Given the description of an element on the screen output the (x, y) to click on. 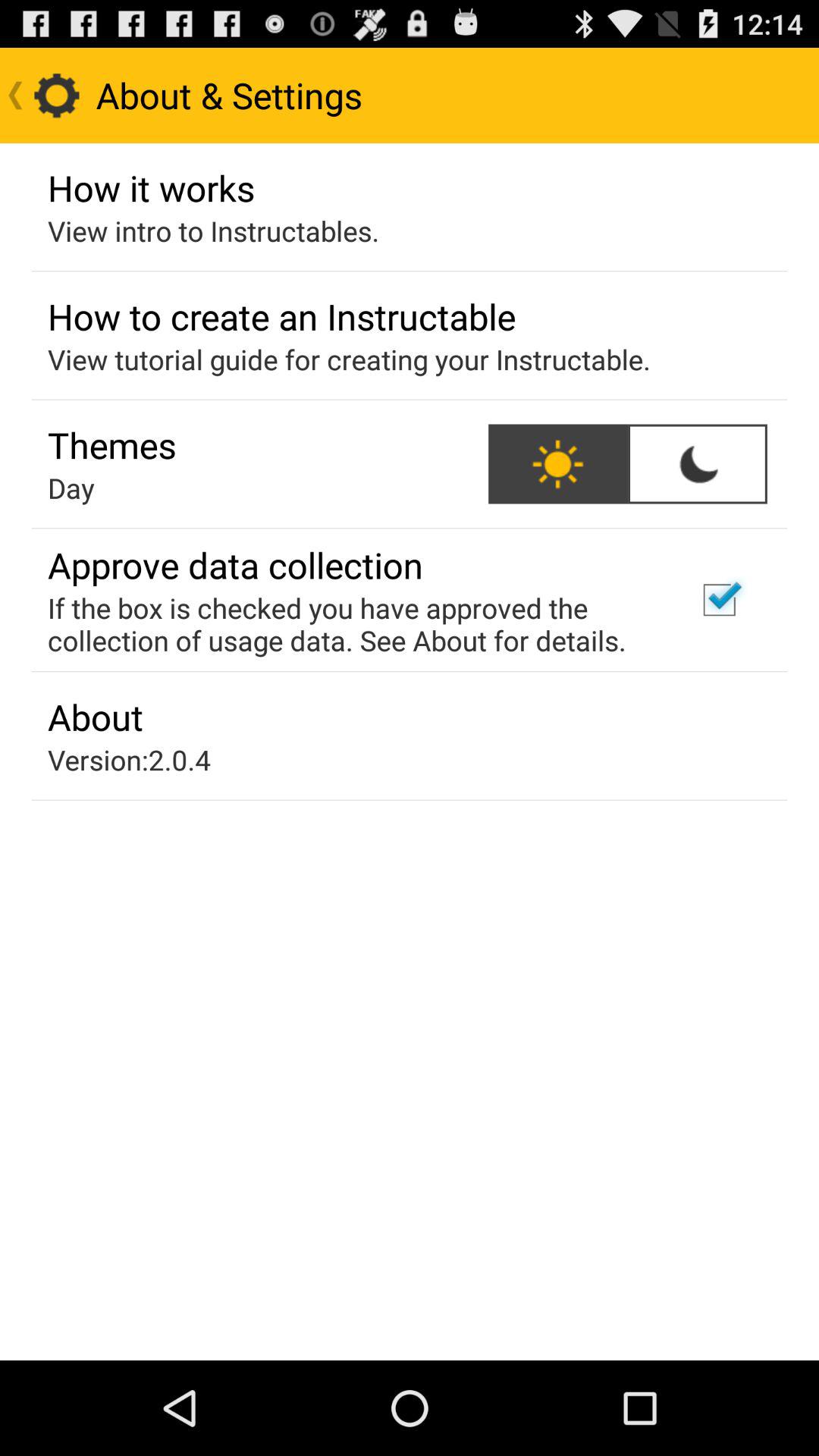
click how to create (281, 316)
